Given the description of an element on the screen output the (x, y) to click on. 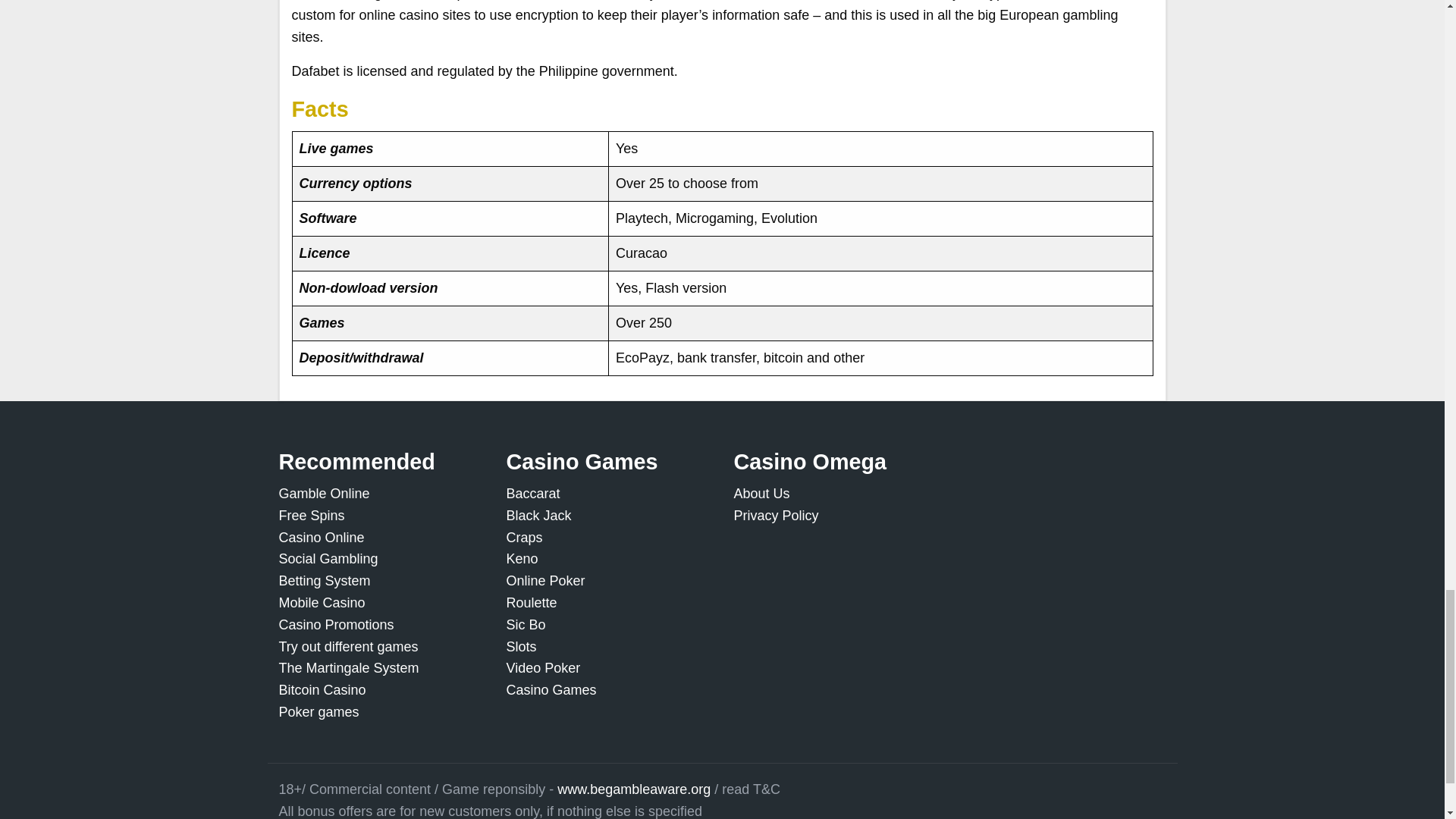
Black Jack (539, 515)
Craps (524, 537)
Gamble Online (324, 493)
Poker games (319, 711)
Baccarat (533, 493)
Betting System (325, 580)
Casino Promotions (336, 624)
Social Gambling (328, 558)
The Martingale System (349, 667)
Try out different games (349, 646)
